Given the description of an element on the screen output the (x, y) to click on. 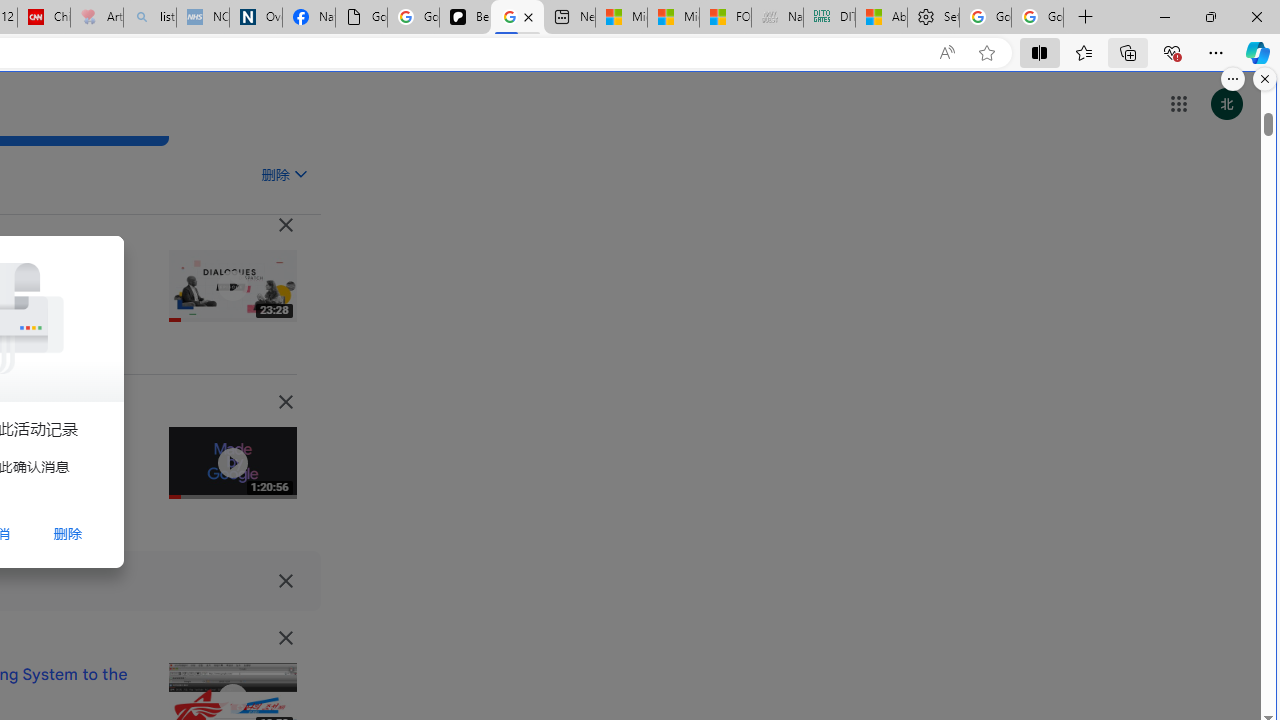
DITOGAMES AG Imprint (829, 17)
FOX News - MSN (725, 17)
Aberdeen, Hong Kong SAR hourly forecast | Microsoft Weather (881, 17)
NCL Adult Asthma Inhaler Choice Guideline - Sleeping (202, 17)
